Given the description of an element on the screen output the (x, y) to click on. 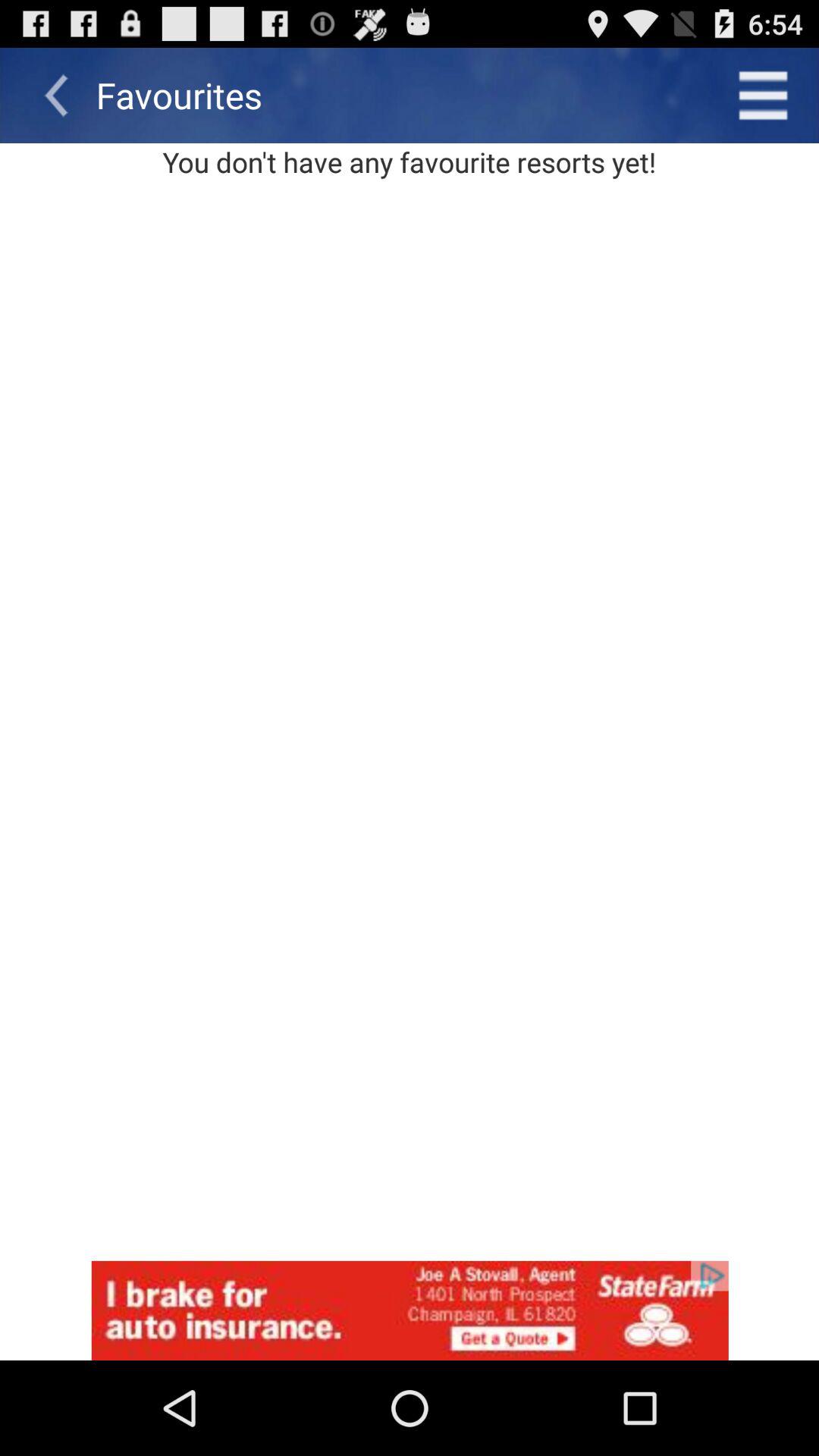
advertisement (409, 1310)
